Given the description of an element on the screen output the (x, y) to click on. 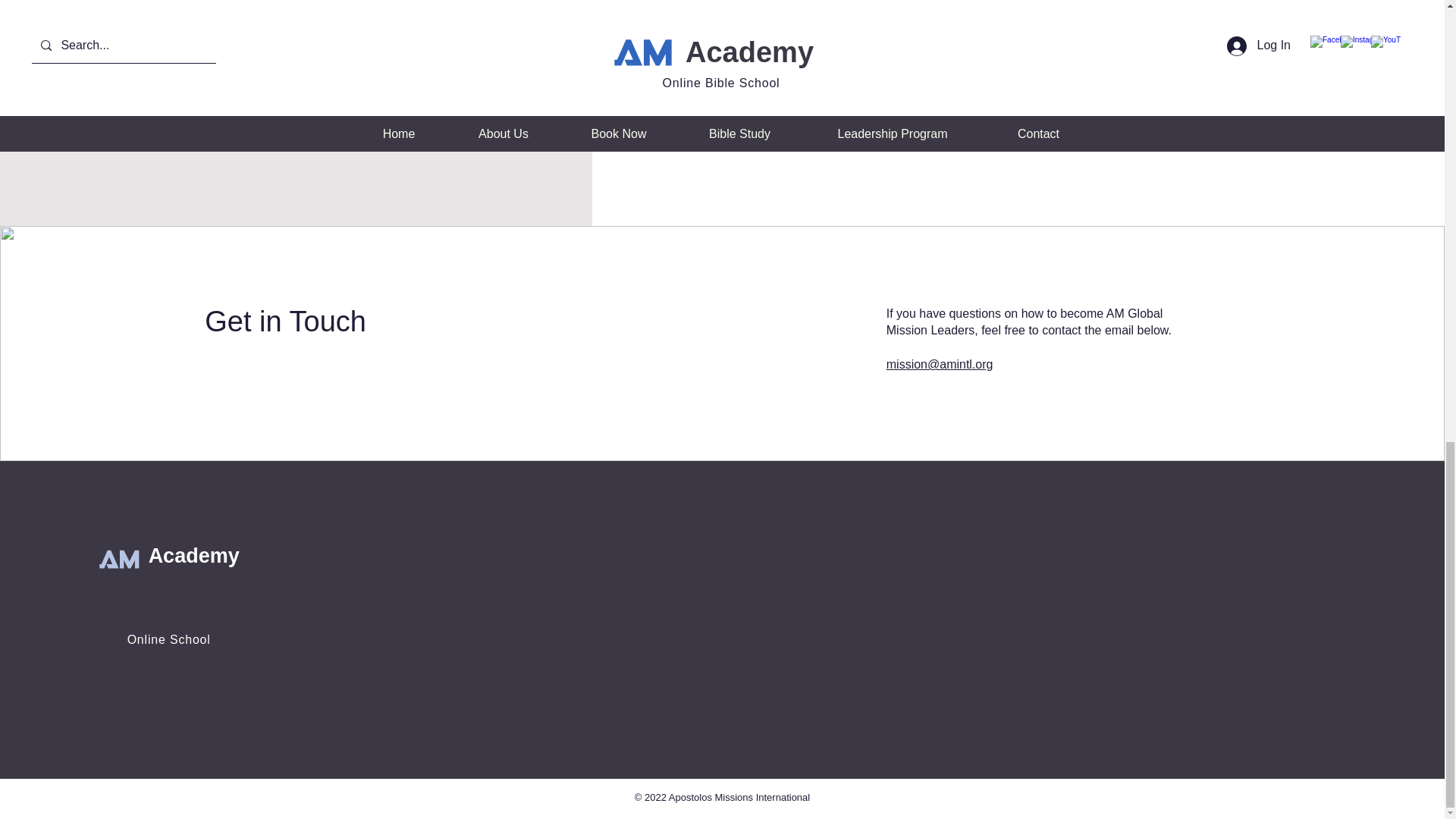
Online School (169, 639)
Academy (194, 555)
